Given the description of an element on the screen output the (x, y) to click on. 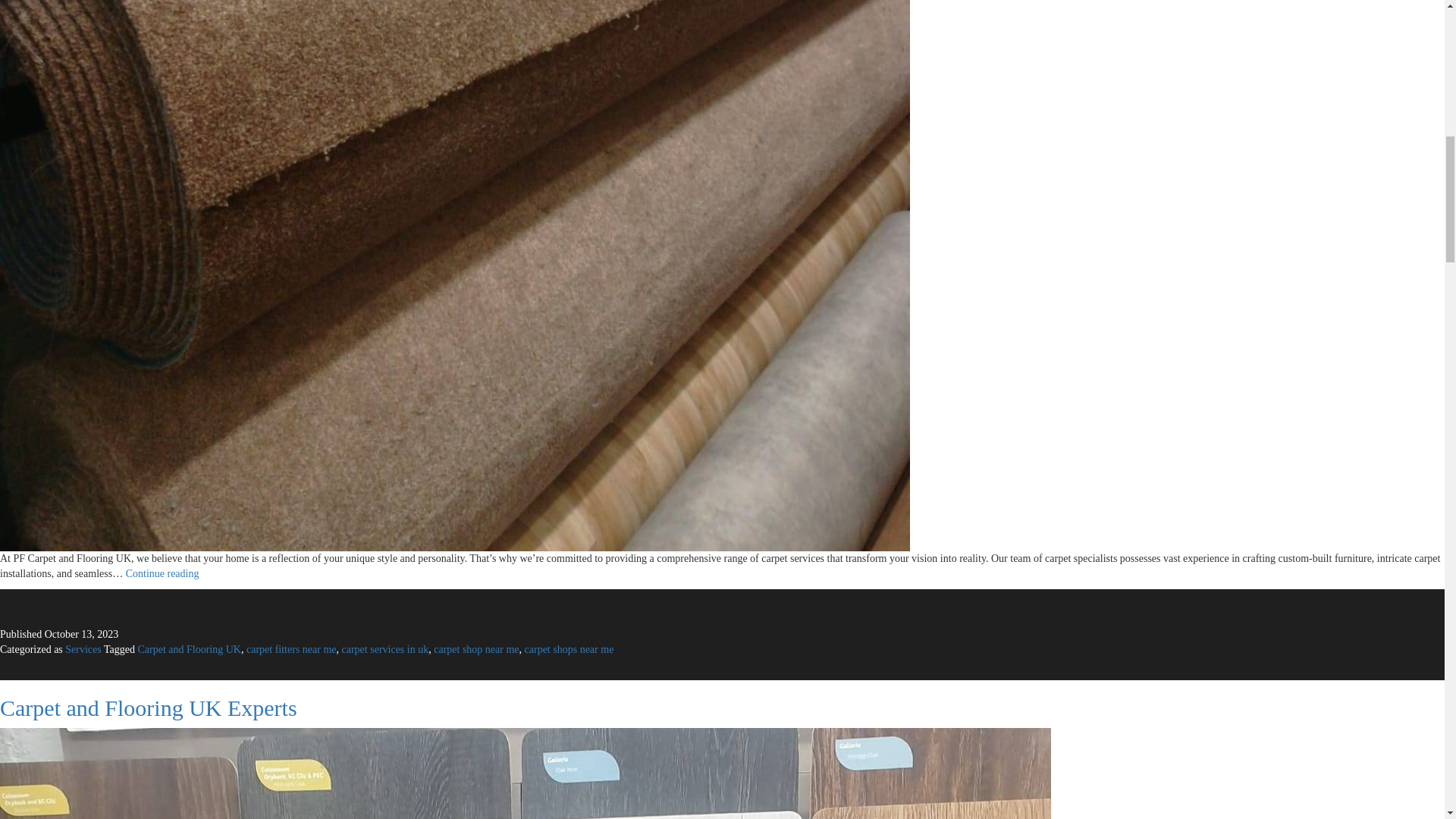
carpet fitters near me (291, 649)
Carpet and Flooring UK (162, 573)
carpet services in uk (189, 649)
Services (385, 649)
Carpet and Flooring UK Experts (82, 649)
carpet shop near me (148, 707)
carpet shops near me (475, 649)
